Given the description of an element on the screen output the (x, y) to click on. 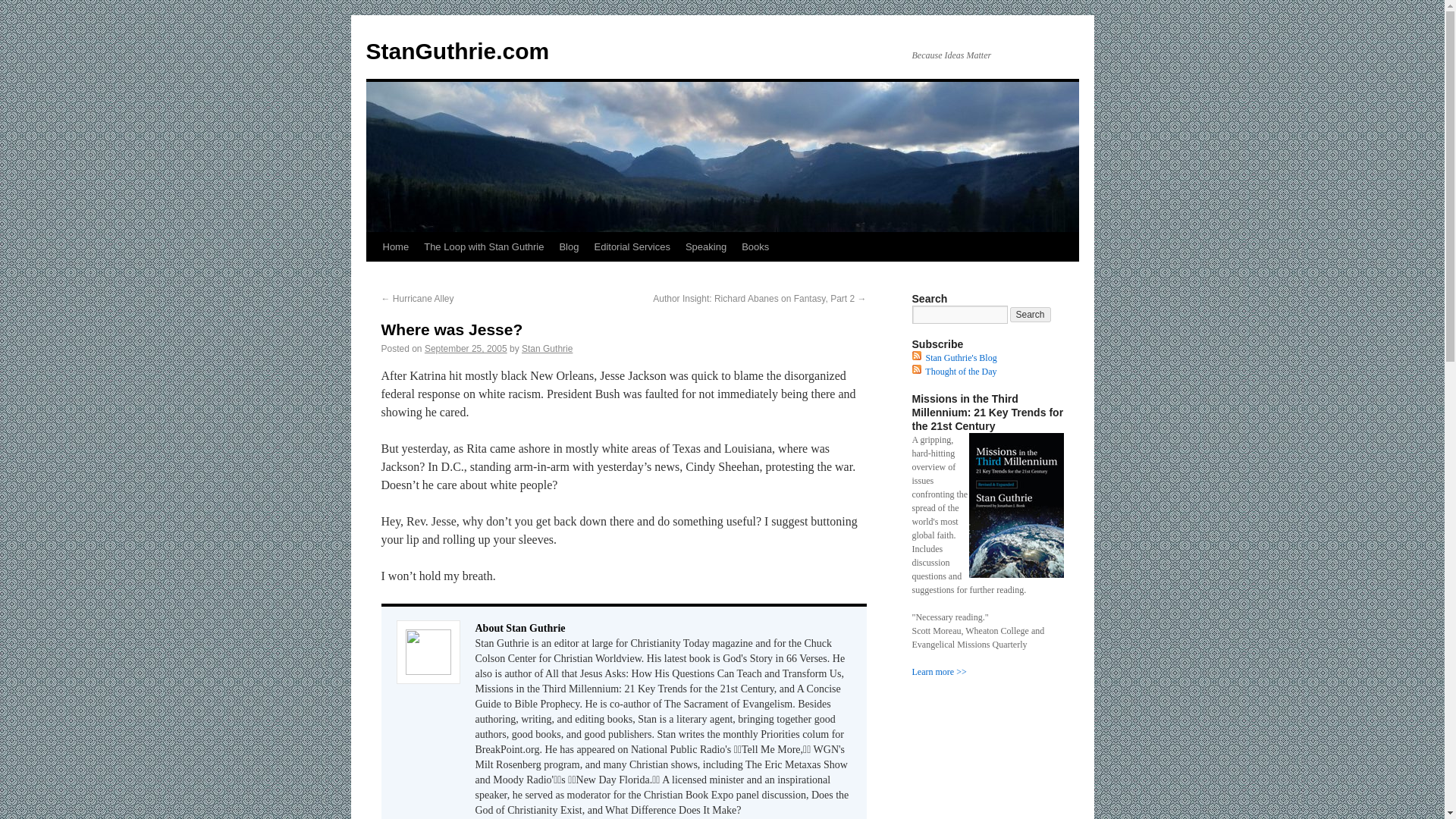
Search (1030, 314)
11:03 am (465, 348)
StanGuthrie.com (456, 50)
Stan Guthrie (546, 348)
Search (1030, 314)
StanGuthrie.com (456, 50)
Books (754, 246)
Stan Guthrie's Blog (959, 357)
View all posts by Stan Guthrie (546, 348)
Editorial Services (631, 246)
Thought of the Day (959, 371)
Blog (568, 246)
September 25, 2005 (465, 348)
Speaking (705, 246)
Home (395, 246)
